Given the description of an element on the screen output the (x, y) to click on. 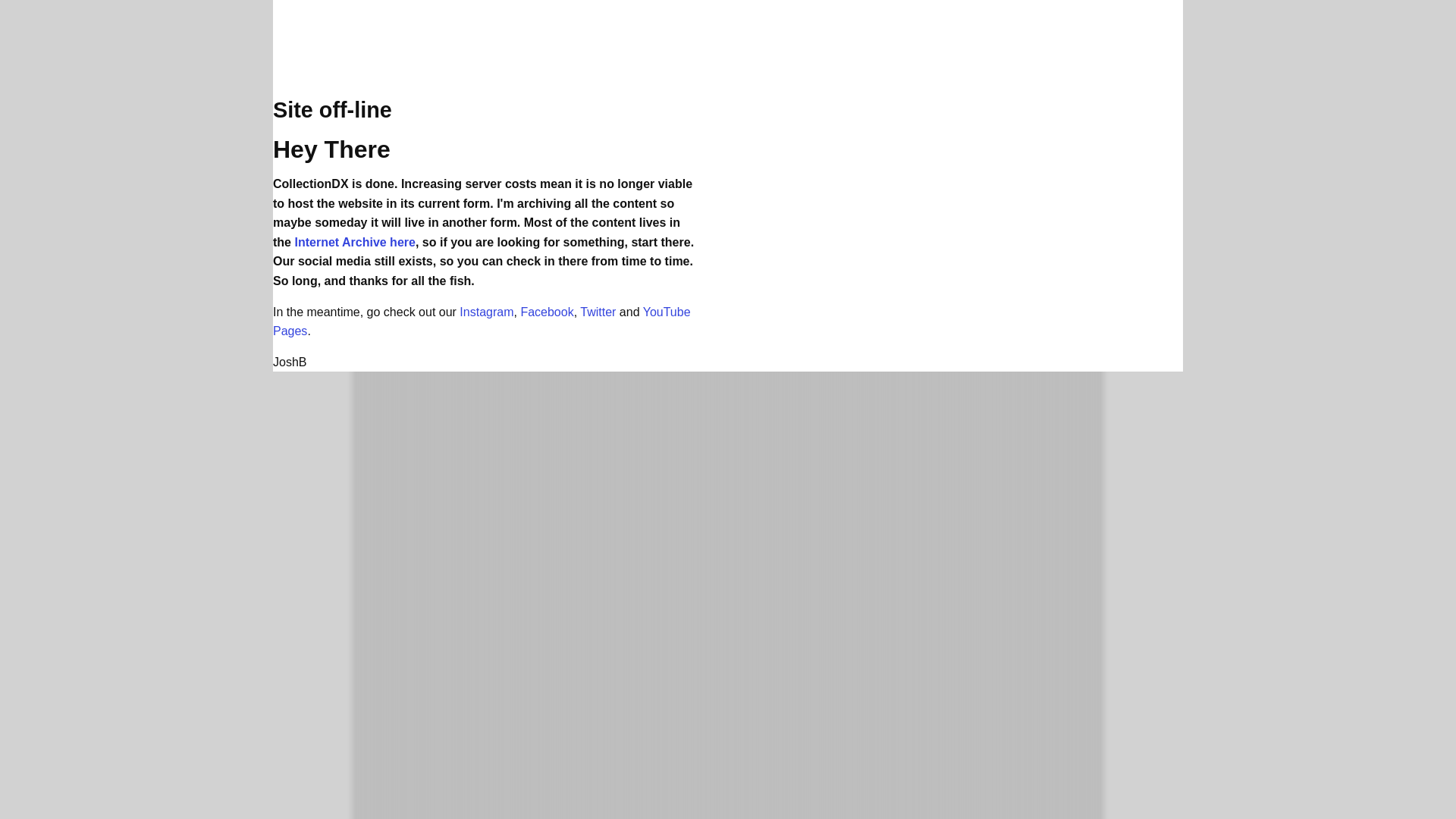
Internet Archive here (354, 241)
YouTube Pages (481, 321)
Twitter (597, 311)
Facebook (546, 311)
Instagram (486, 311)
